Given the description of an element on the screen output the (x, y) to click on. 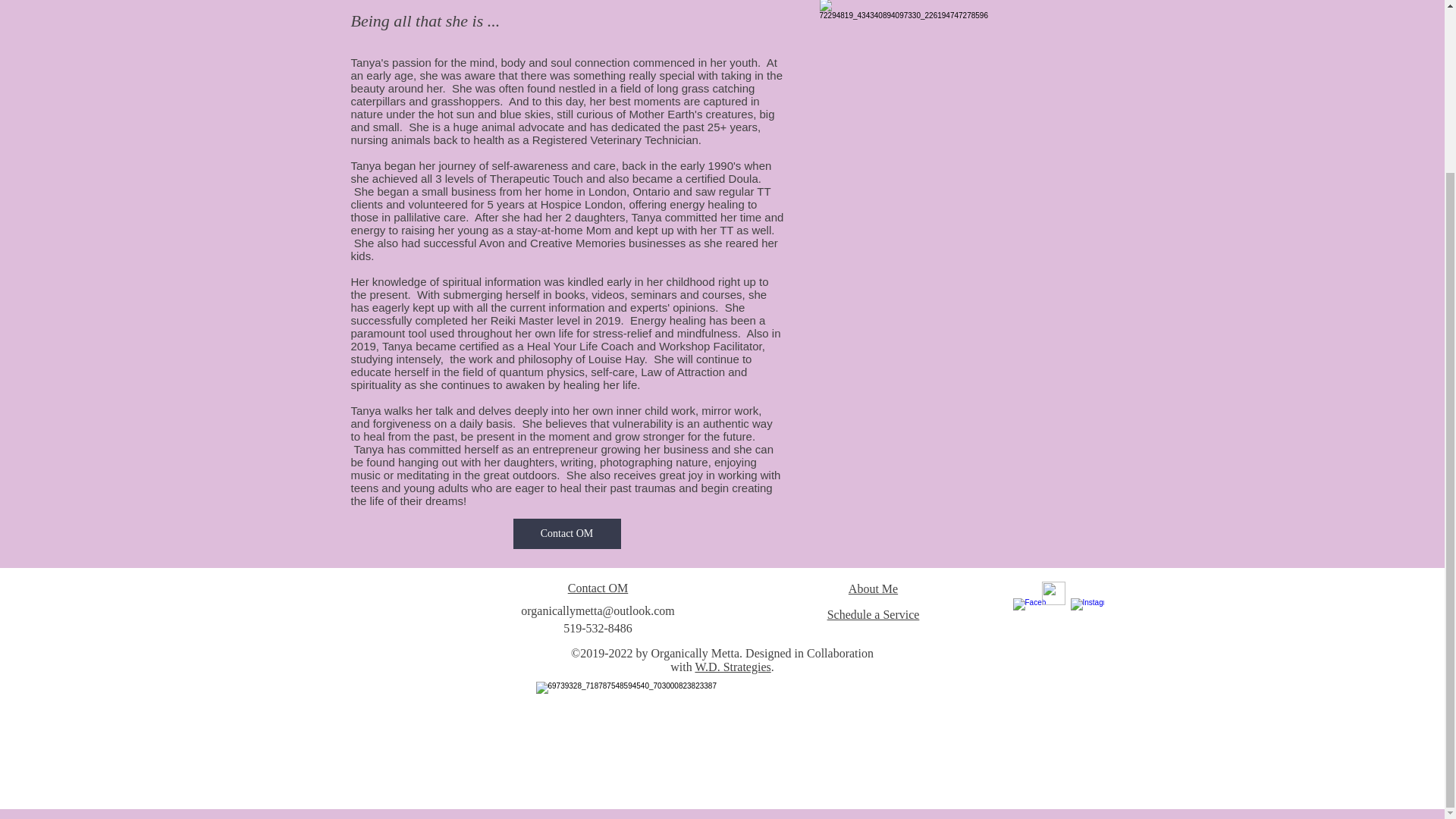
About Me (873, 588)
W.D. Strategies (732, 666)
519-532-8486 (597, 627)
Schedule a Service (873, 614)
Contact OM (566, 533)
Contact OM (597, 587)
